Given the description of an element on the screen output the (x, y) to click on. 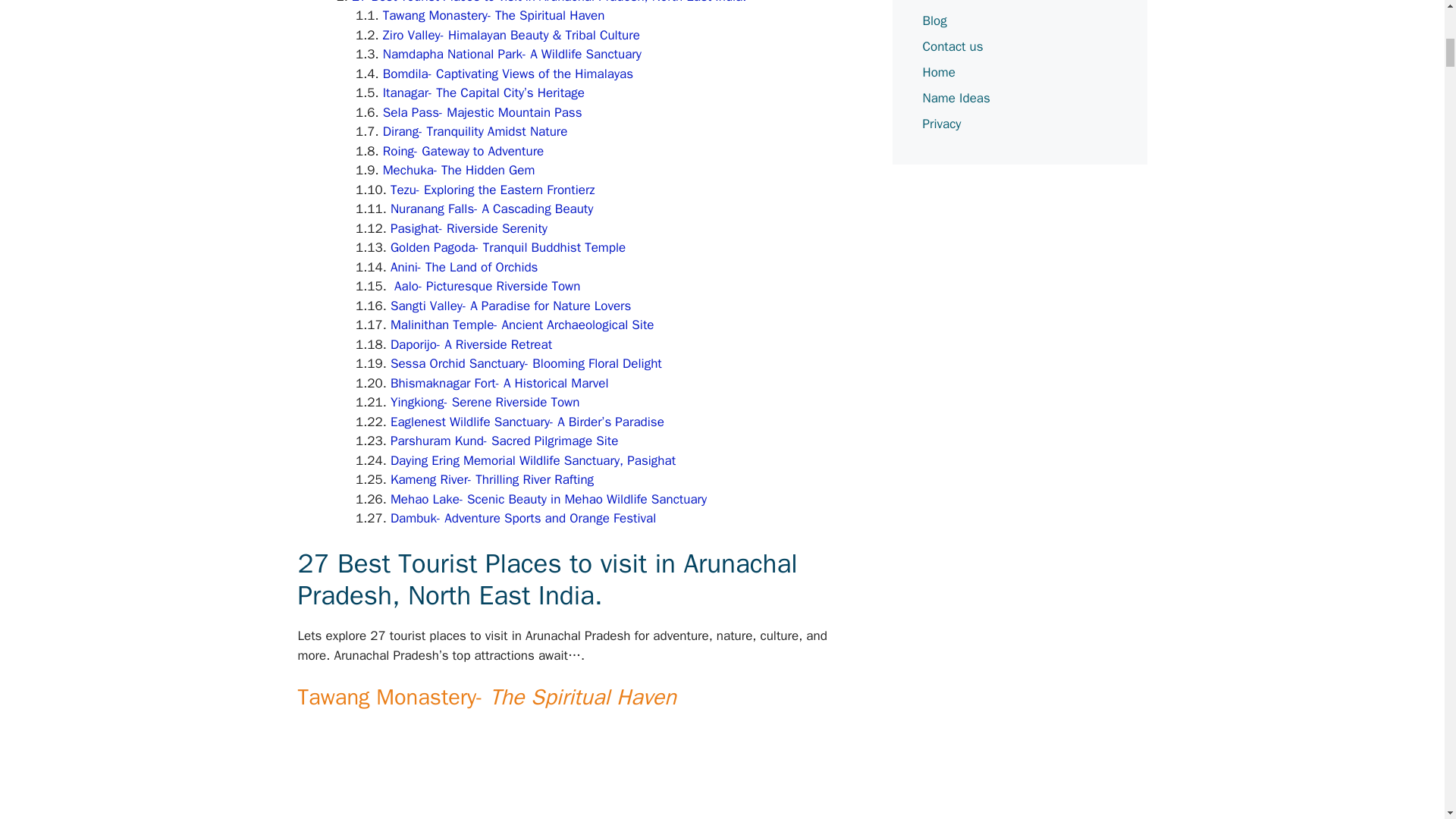
Tawang-Monastery-1 (579, 772)
Daying Ering Memorial Wildlife Sanctuary, Pasighat (532, 460)
Sangti Valley- A Paradise for Nature Lovers (510, 305)
Anini- The Land of Orchids (464, 267)
Daporijo- A Riverside Retreat (470, 344)
Sela Pass- Majestic Mountain Pass (482, 112)
Tawang Monastery- The Spiritual Haven (493, 15)
Mechuka- The Hidden Gem (458, 170)
Bomdila- Captivating Views of the Himalayas (507, 73)
Roing- Gateway to Adventure (463, 150)
